Given the description of an element on the screen output the (x, y) to click on. 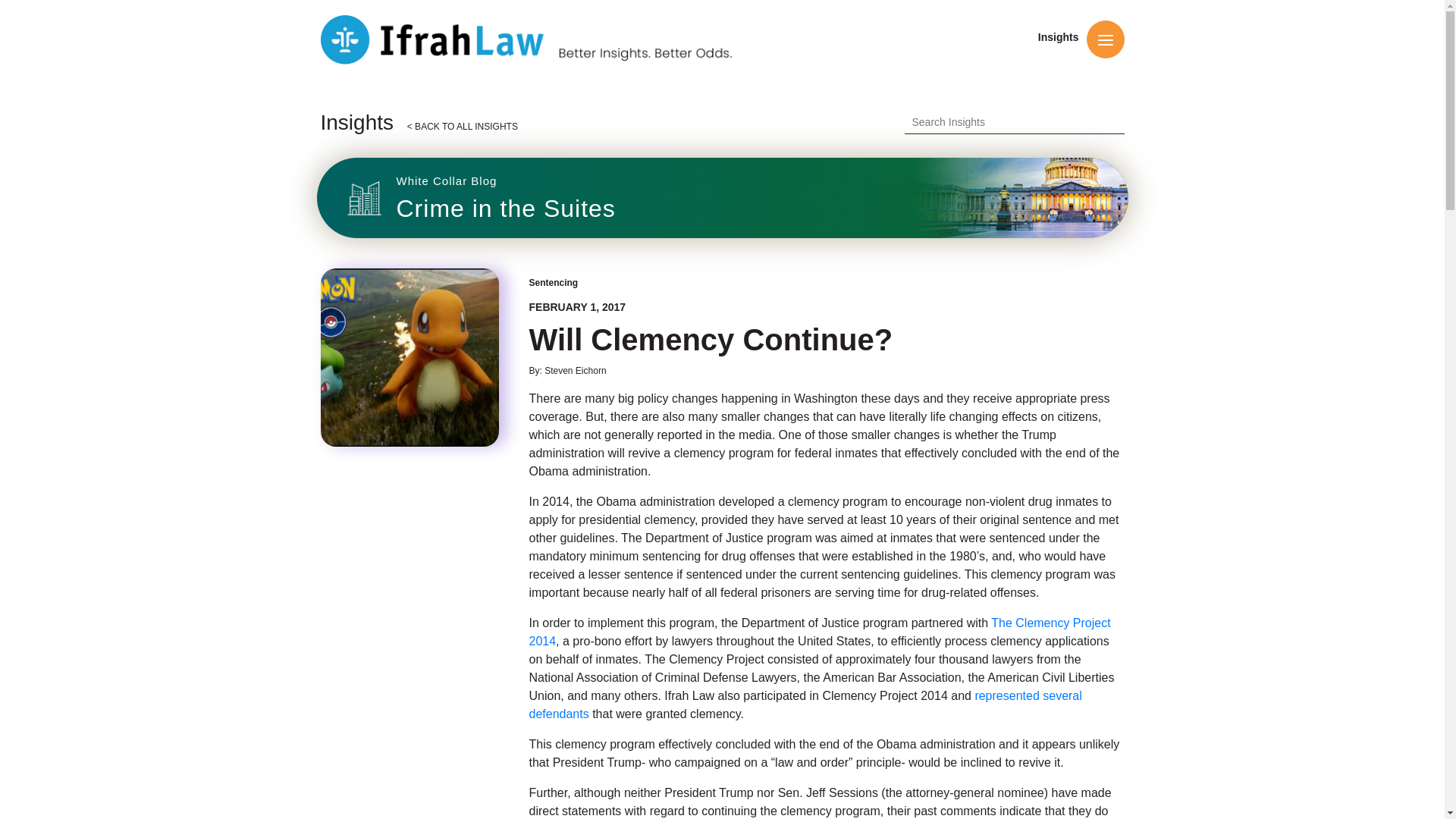
logo-full (722, 197)
Sentencing (547, 38)
represented several defendants (553, 282)
Will Clemency Continue? (805, 704)
Search (408, 357)
Insights (1002, 121)
The Clemency Project 2014 (1058, 37)
